Given the description of an element on the screen output the (x, y) to click on. 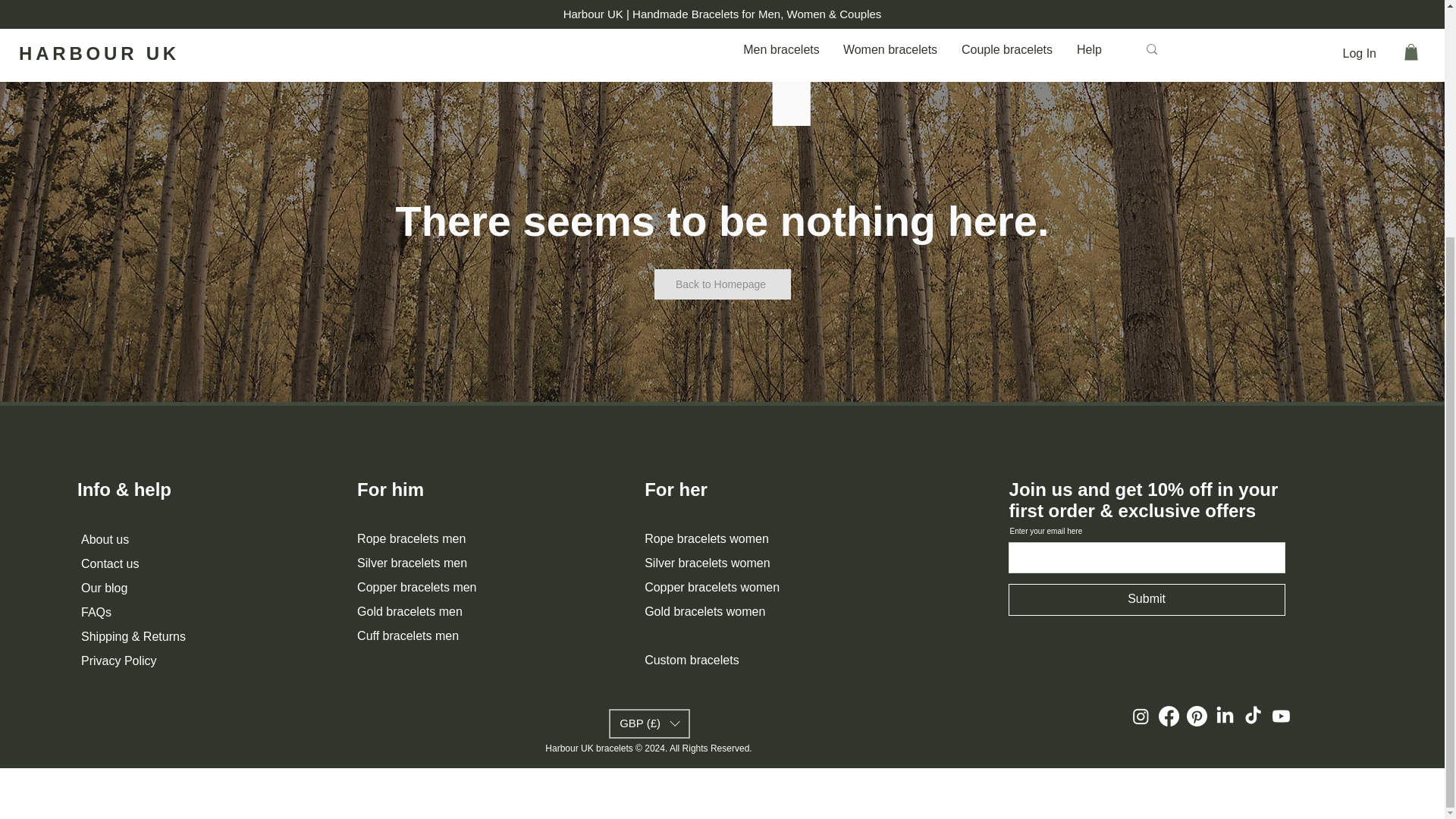
Back to Homepage (721, 283)
Copper bracelets men  (418, 586)
Rope bracelets men (410, 538)
Copper bracelets women (711, 586)
Our blog (104, 586)
Rope bracelets women (706, 538)
Submit (1147, 599)
Gold bracelets men (409, 611)
Contact us (109, 562)
Silver bracelets women (707, 562)
